Given the description of an element on the screen output the (x, y) to click on. 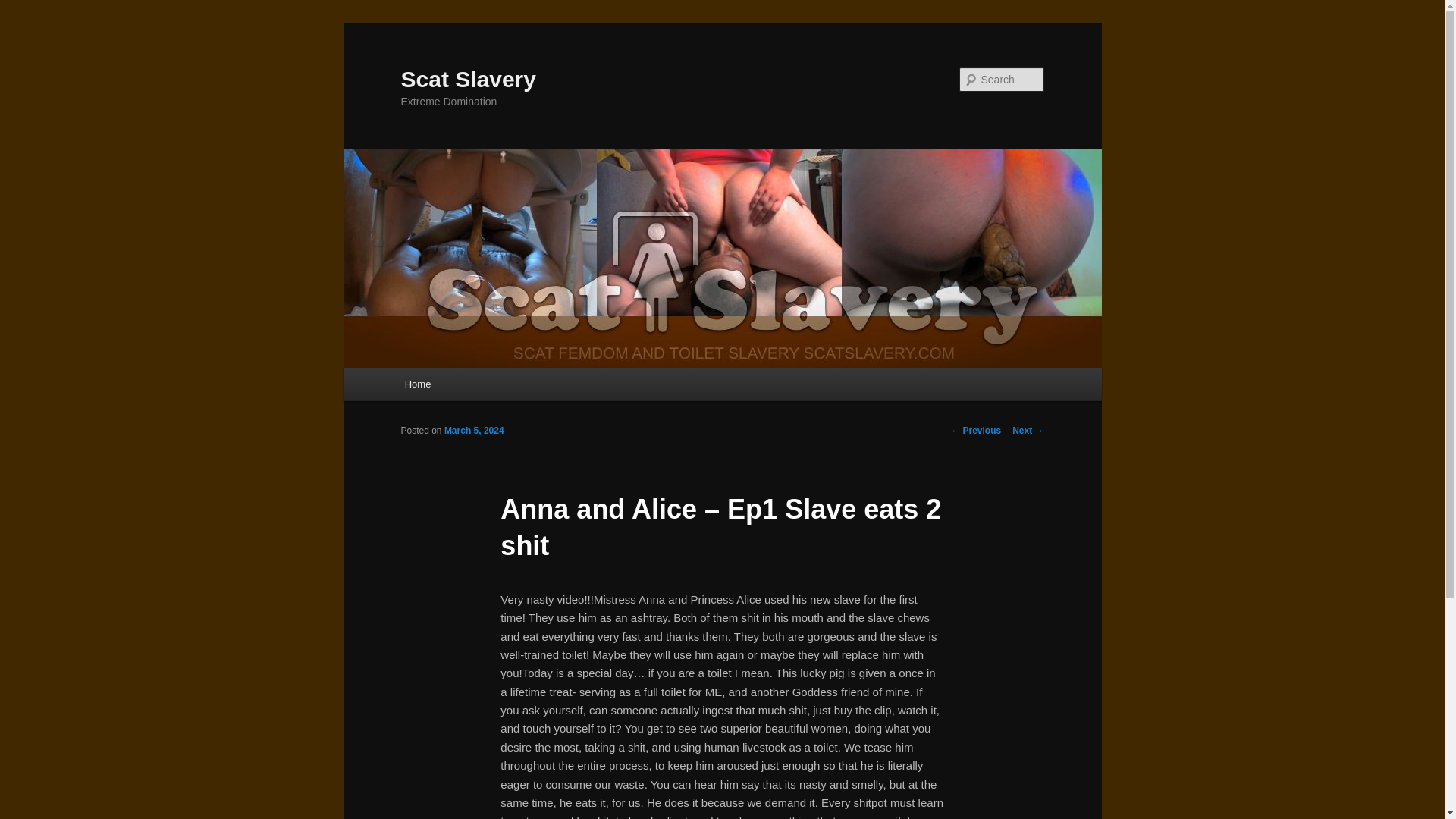
March 5, 2024 (473, 430)
Scat Slavery (467, 78)
Home (417, 383)
5:38 pm (473, 430)
Search (24, 8)
